Given the description of an element on the screen output the (x, y) to click on. 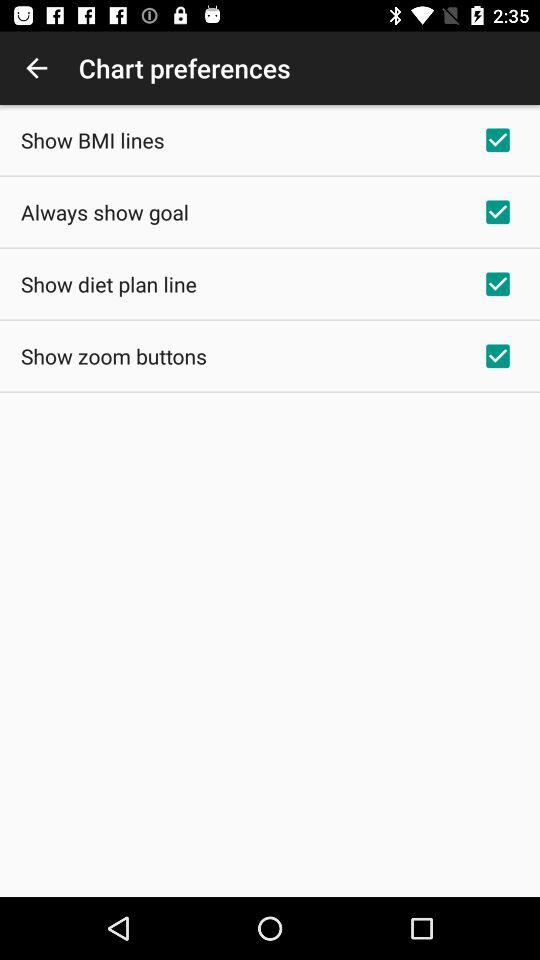
launch the show diet plan (108, 284)
